Given the description of an element on the screen output the (x, y) to click on. 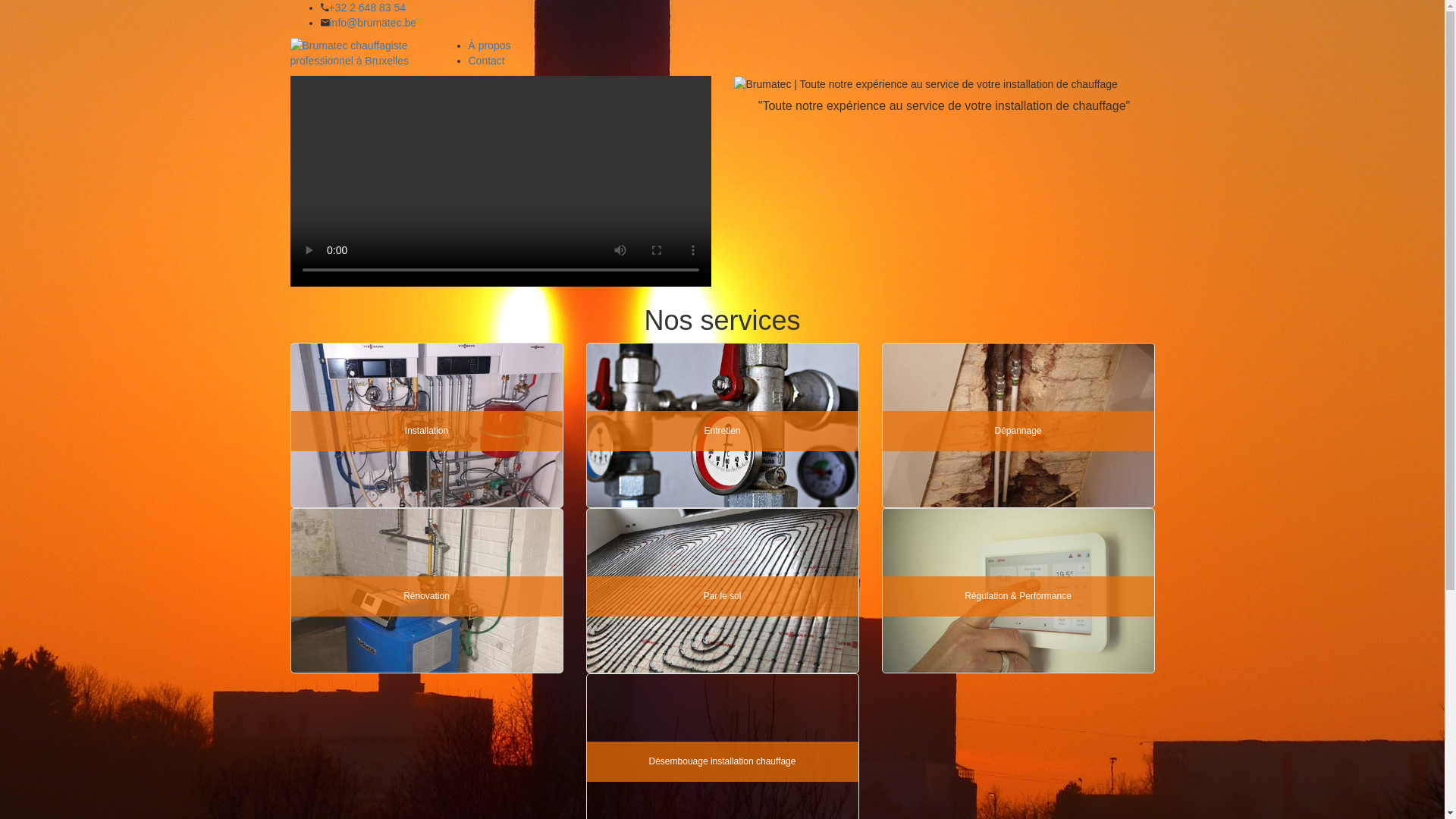
+32 2 648 83 54 Element type: text (367, 7)
info@brumatec.be Element type: text (372, 22)
Contact Element type: text (486, 60)
